Given the description of an element on the screen output the (x, y) to click on. 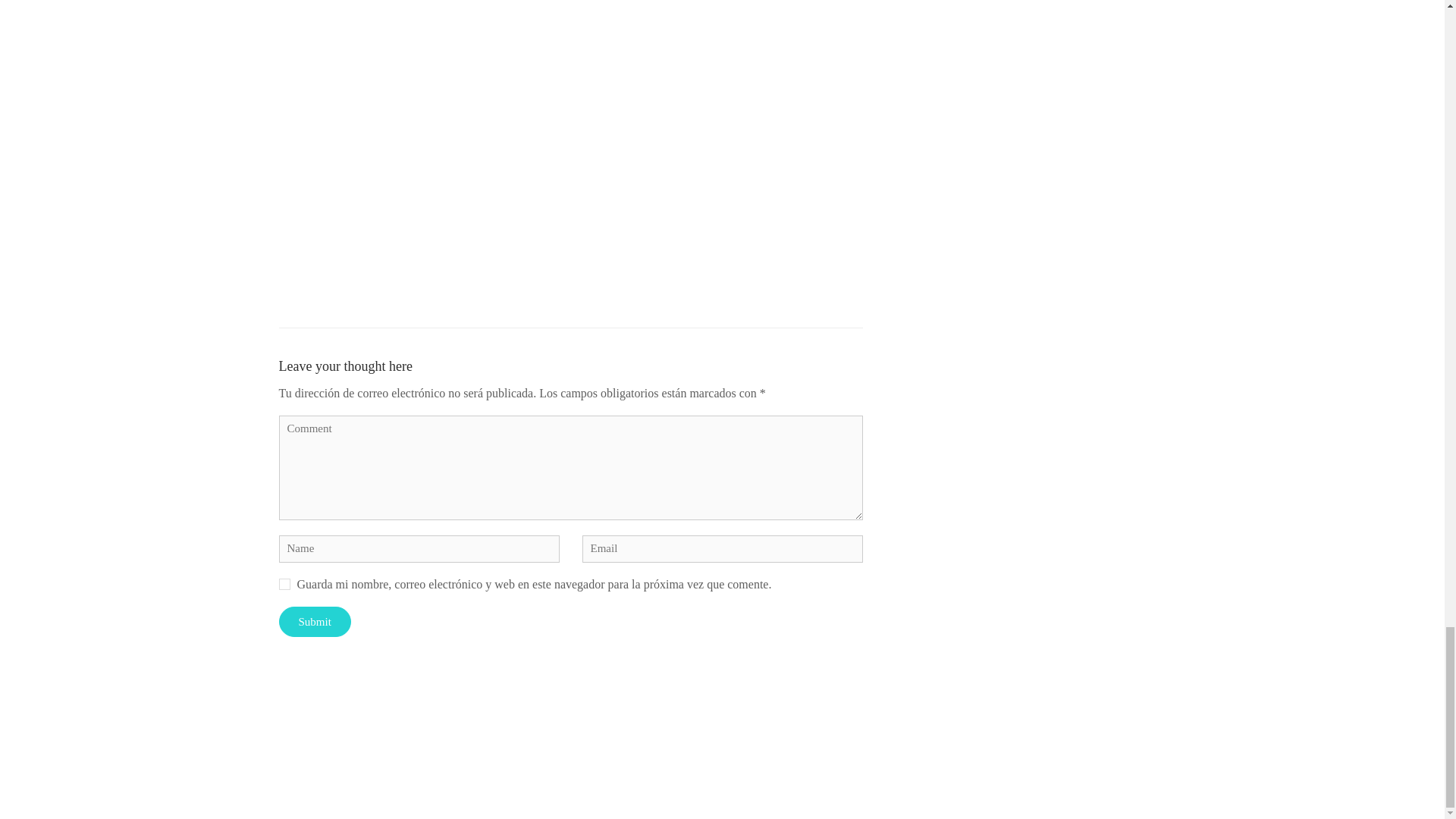
Submit (314, 621)
Submit (314, 621)
yes (284, 583)
